Given the description of an element on the screen output the (x, y) to click on. 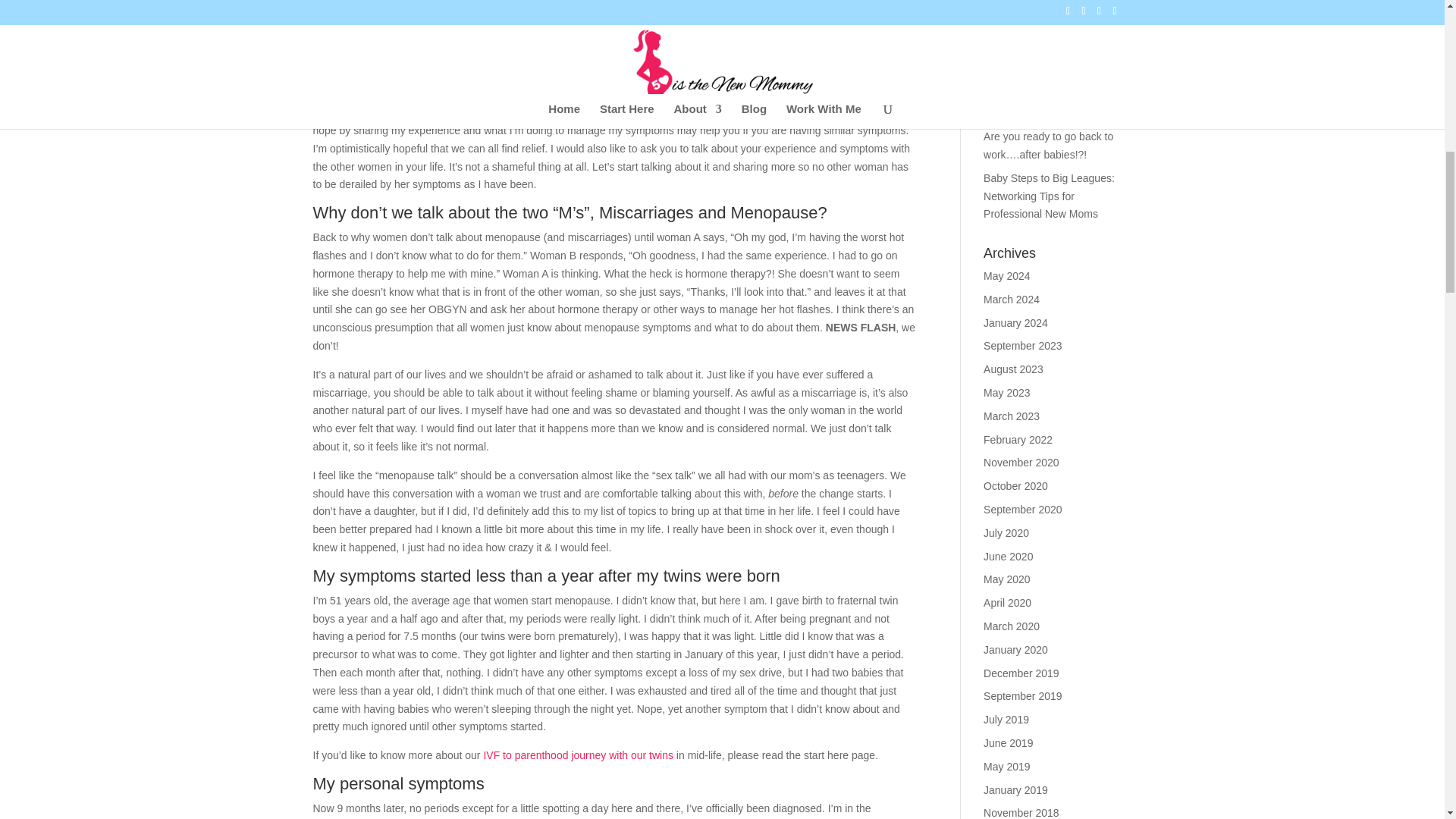
IVF to parenthood journey with our twins (577, 755)
